Given the description of an element on the screen output the (x, y) to click on. 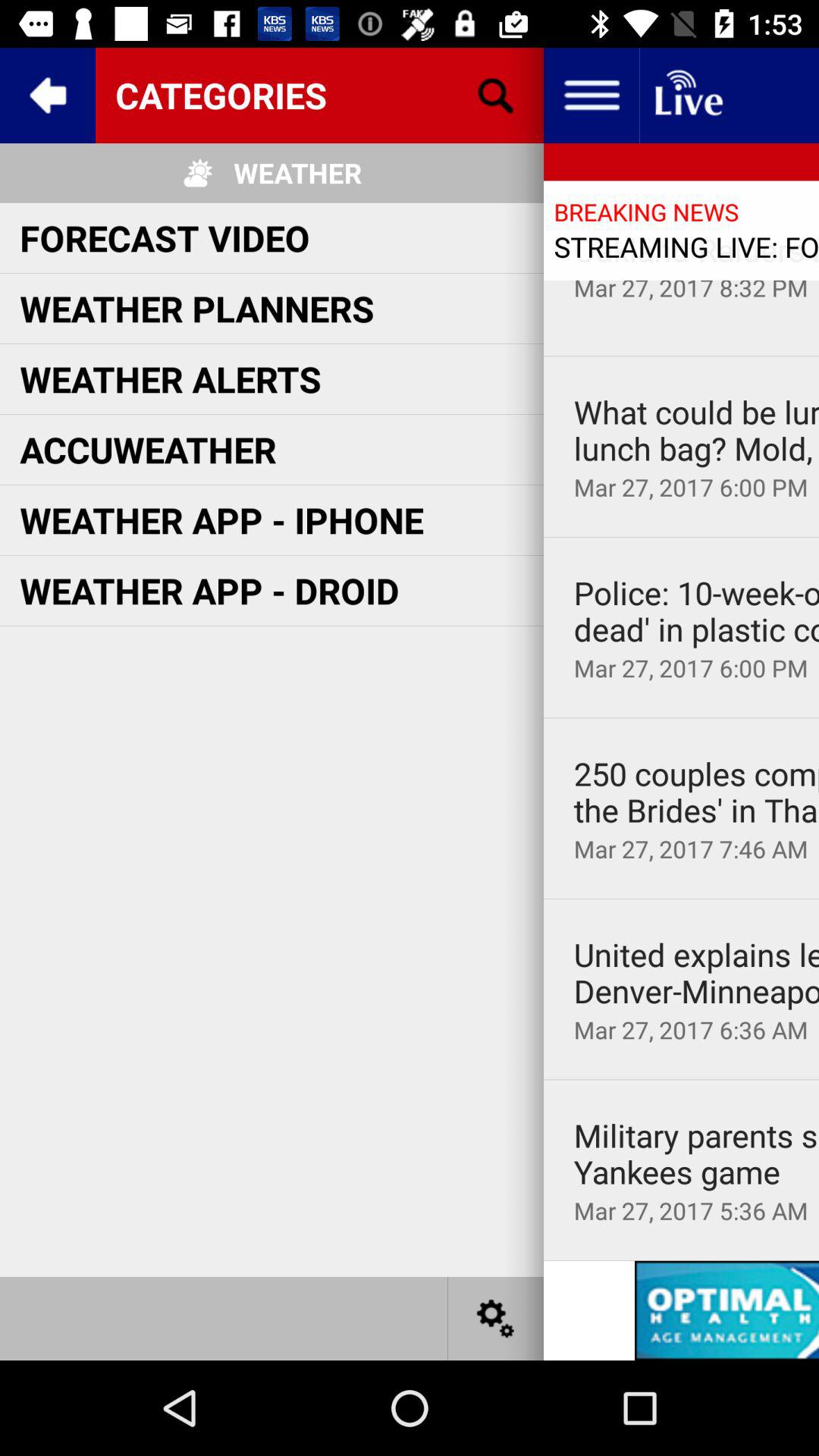
scroll to what could be app (696, 430)
